Given the description of an element on the screen output the (x, y) to click on. 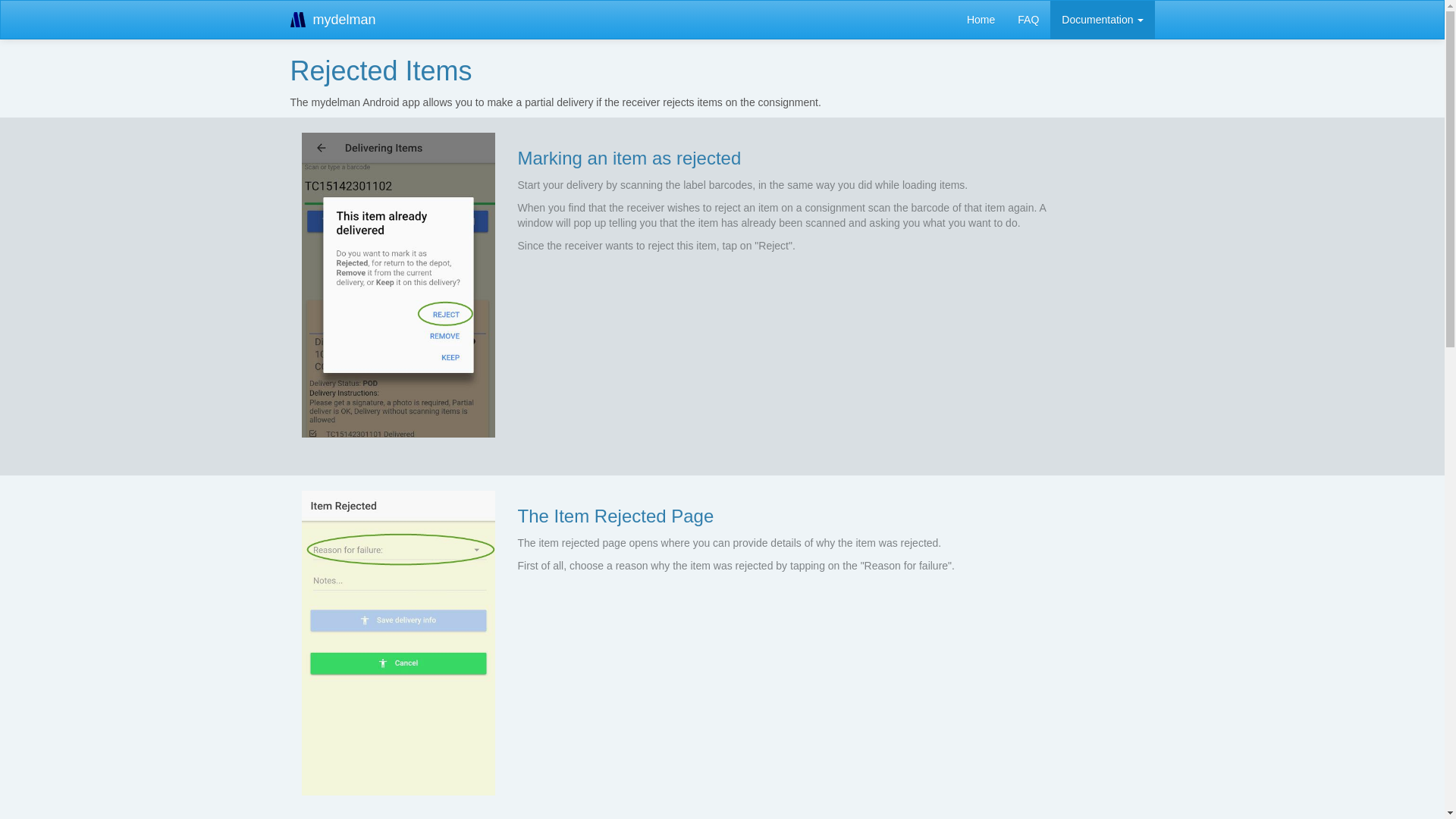
Item rejected page Element type: hover (398, 642)
Home Element type: text (980, 19)
Documentation Element type: text (1102, 19)
mydelman Element type: text (333, 19)
Scan the barcode of the item to be rejected Element type: hover (398, 284)
FAQ Element type: text (1028, 19)
